Given the description of an element on the screen output the (x, y) to click on. 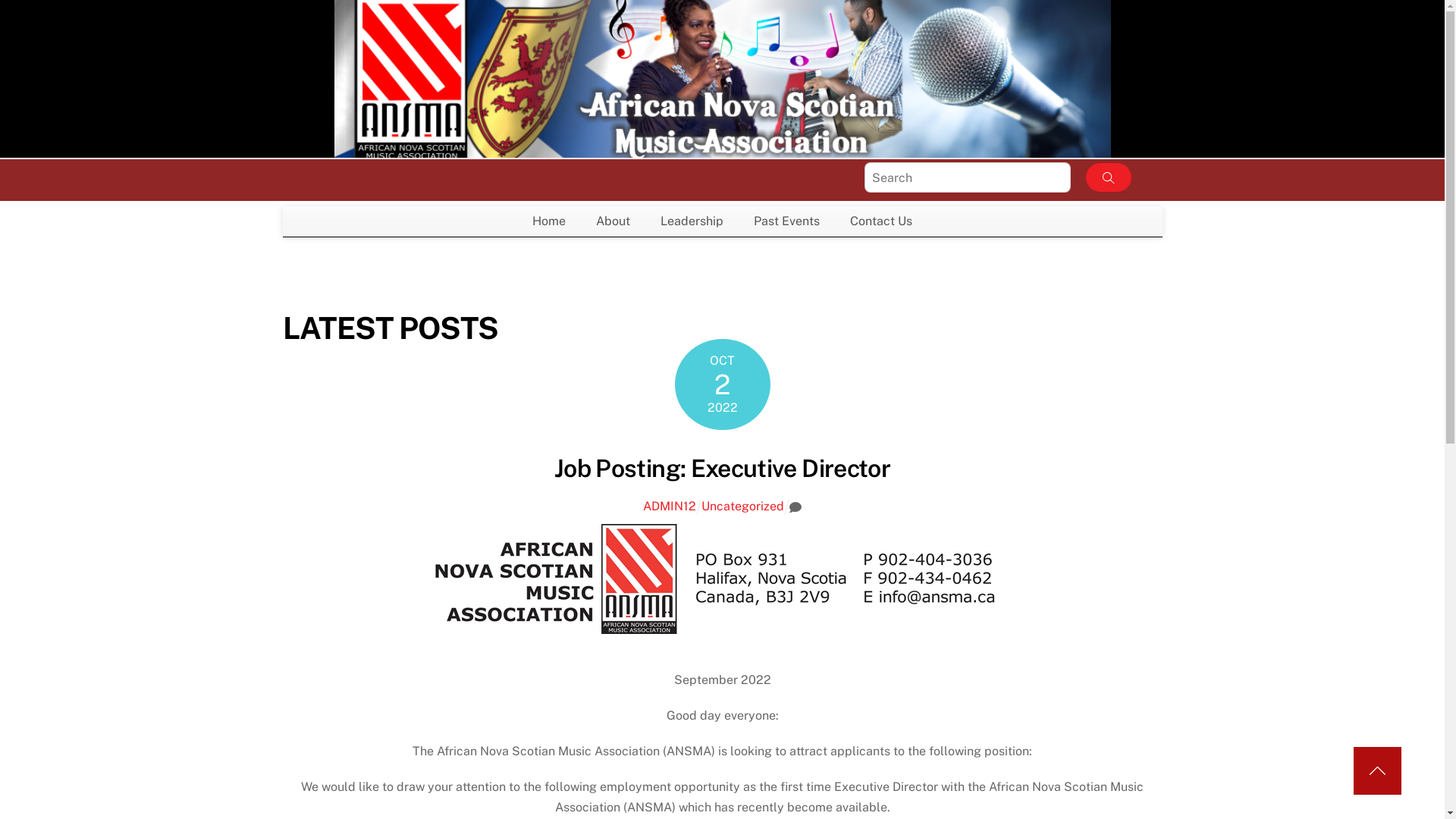
header 1 Element type: hover (722, 578)
About Element type: text (612, 221)
Job Posting: Executive Director Element type: text (722, 468)
Leadership Element type: text (691, 221)
ADMIN12 Element type: text (669, 505)
Home Element type: text (548, 221)
Uncategorized Element type: text (742, 505)
Search Element type: hover (967, 177)
Contact Us Element type: text (880, 221)
Past Events Element type: text (786, 221)
